Given the description of an element on the screen output the (x, y) to click on. 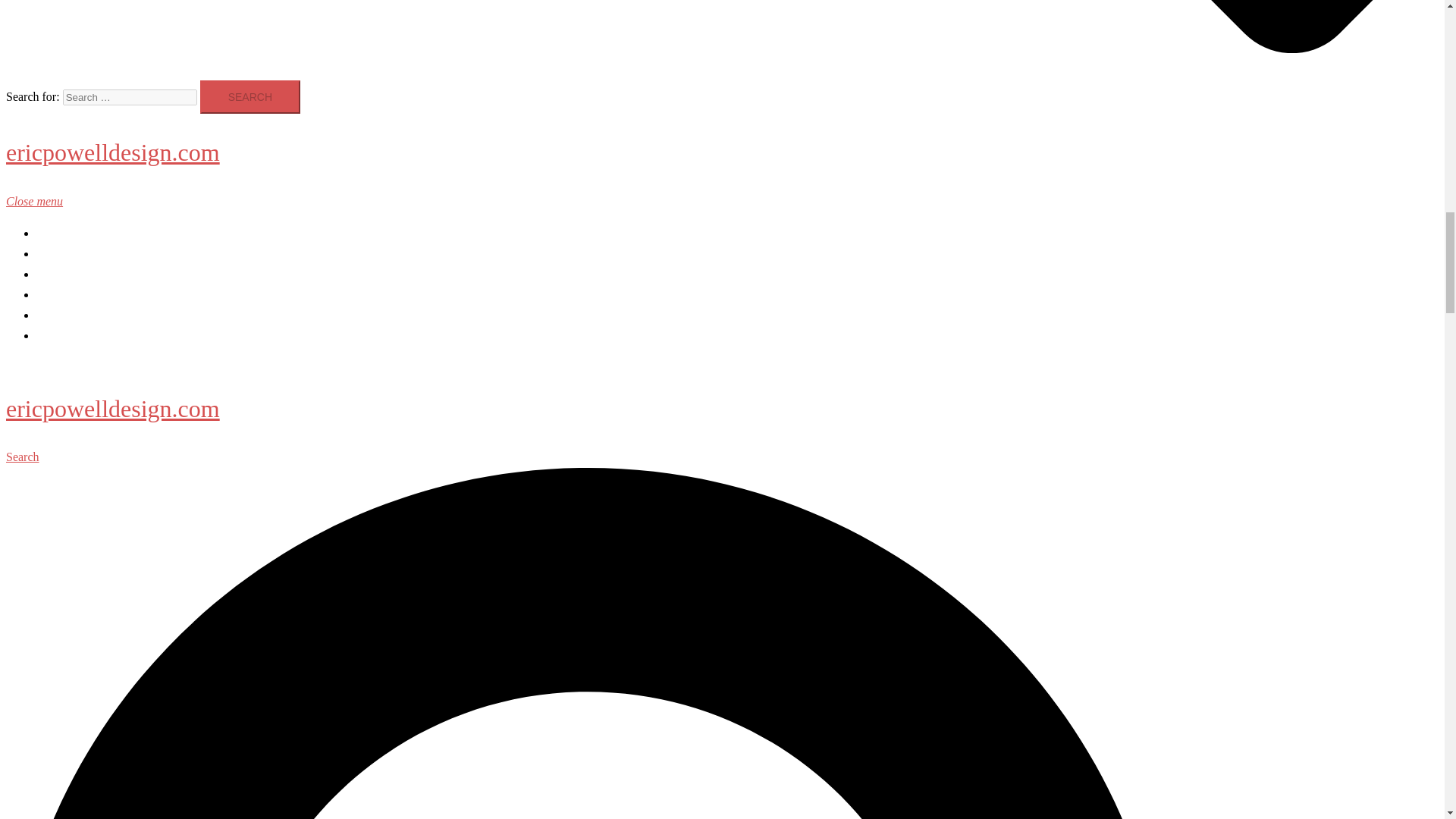
CASINO (58, 253)
SPORTSBOOK (75, 315)
Search (249, 96)
POKER (55, 274)
ericpowelldesign.com (112, 408)
Close menu (40, 201)
SLOT (51, 294)
Home (50, 233)
COCK FIGHTING (83, 335)
Search (249, 96)
